Given the description of an element on the screen output the (x, y) to click on. 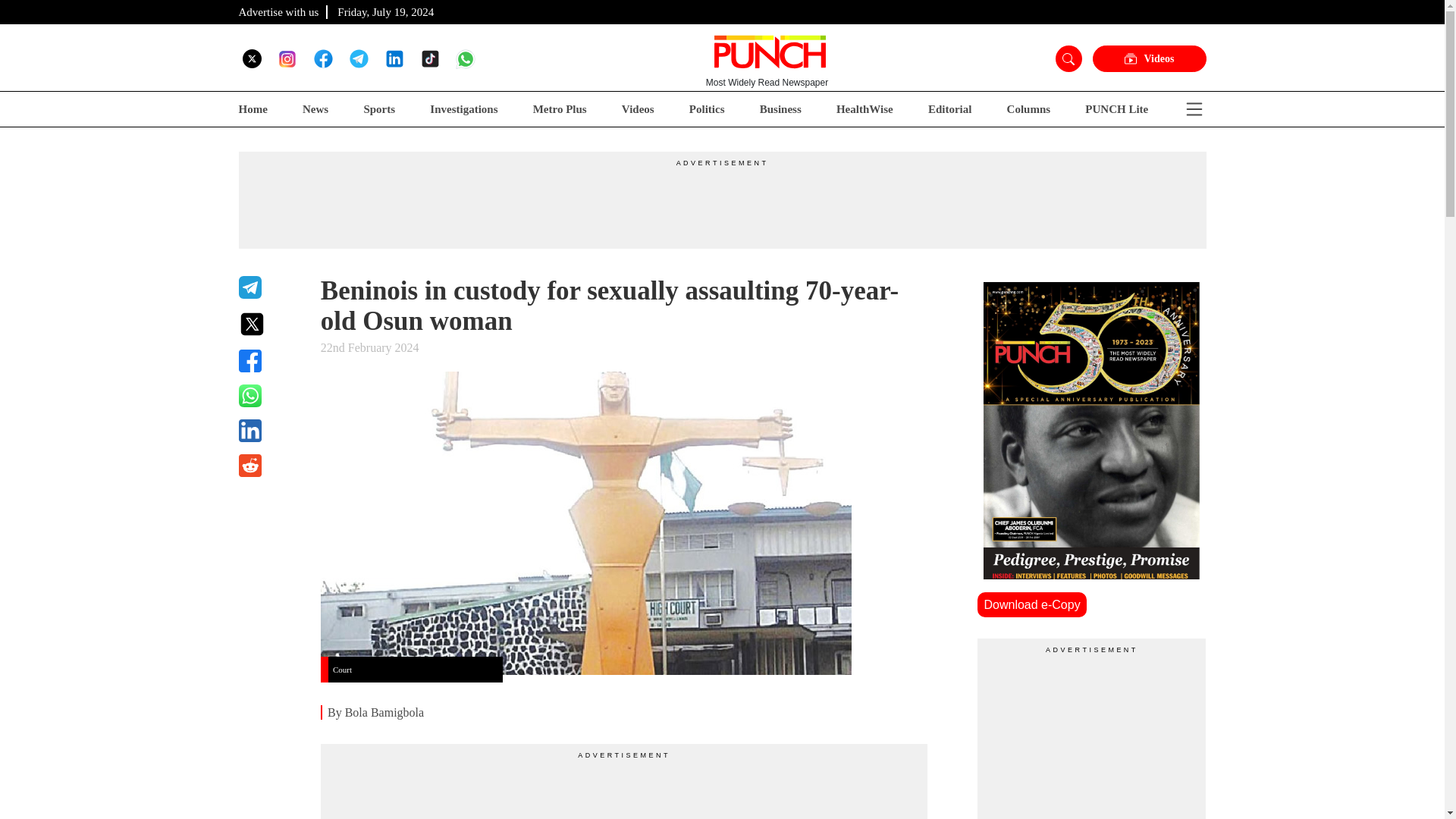
Sports (378, 109)
HealthWise (864, 109)
Politics (706, 109)
Home (252, 109)
Follow Us on X (252, 58)
Follow Us on Instagram (287, 58)
Follow Our Channel on Telegram (358, 58)
Investigations (463, 109)
Share on Telegram (269, 287)
Business (781, 109)
3rd party ad content (1091, 737)
Share on Linkedin (269, 430)
Videos (637, 109)
Follow us on Linkedin (395, 58)
Columns (1029, 109)
